Given the description of an element on the screen output the (x, y) to click on. 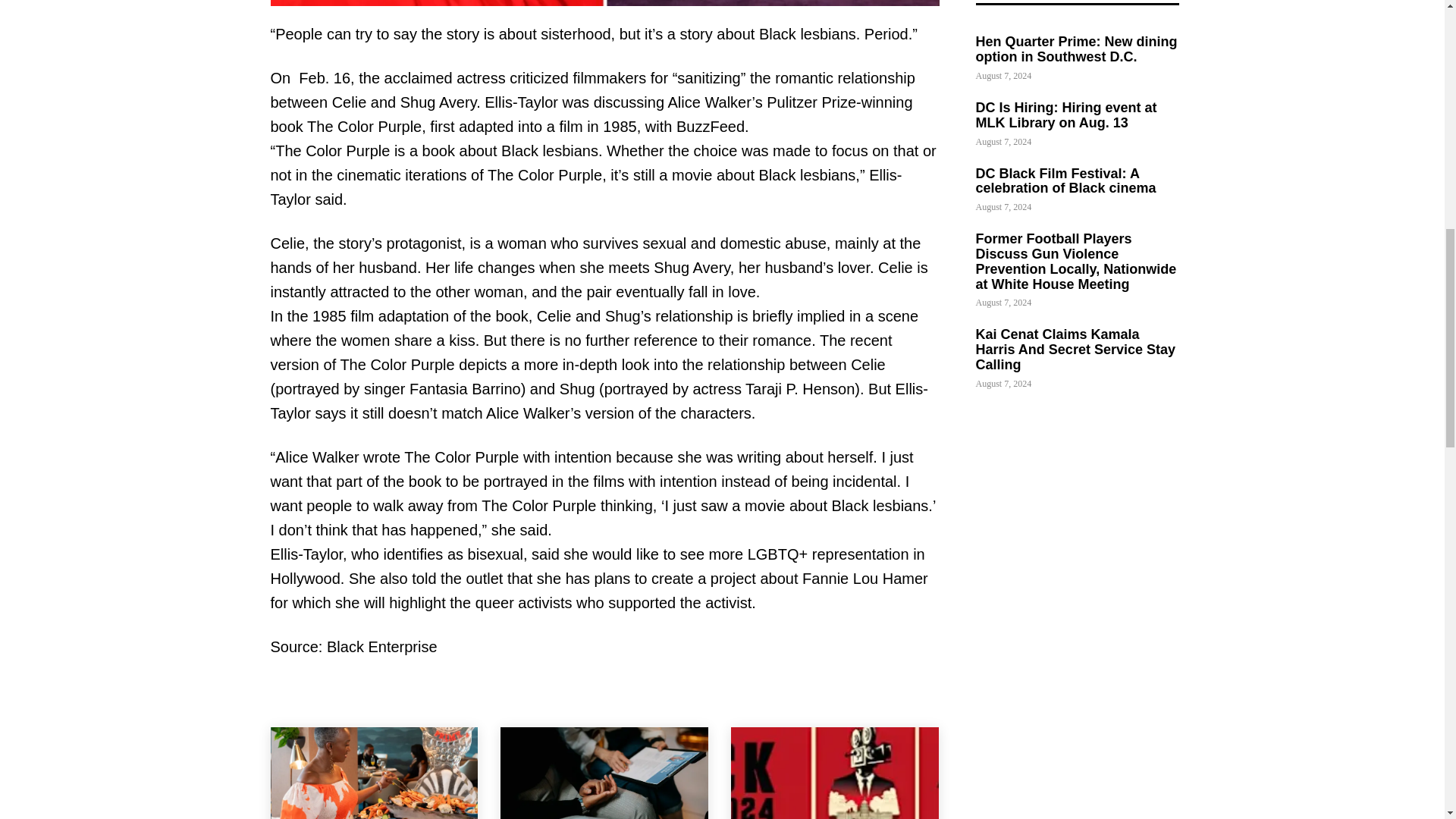
Hen Quarter Prime: New dining option in Southwest D.C. (373, 773)
